Given the description of an element on the screen output the (x, y) to click on. 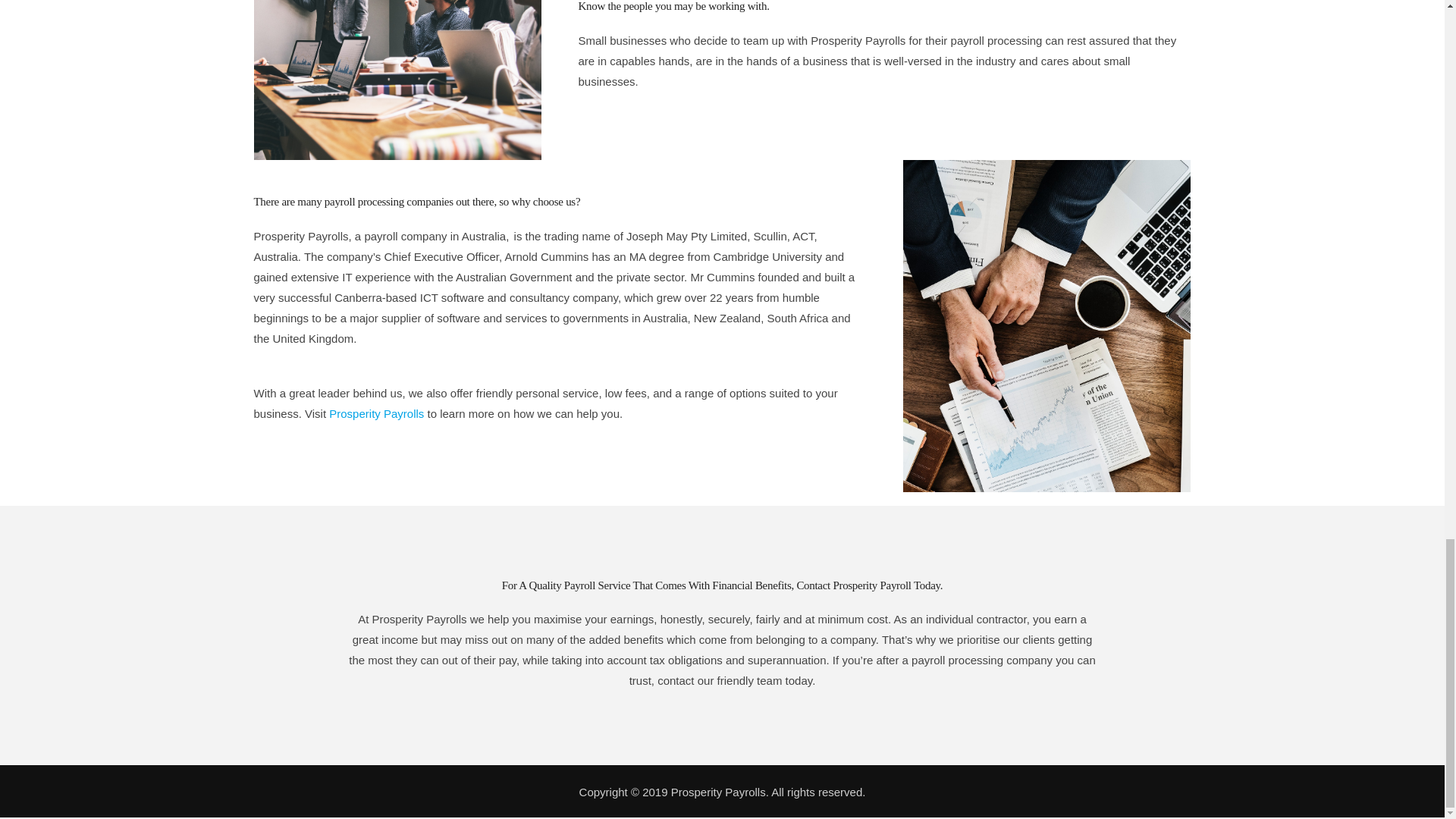
Prosperity Payrolls (376, 413)
